Given the description of an element on the screen output the (x, y) to click on. 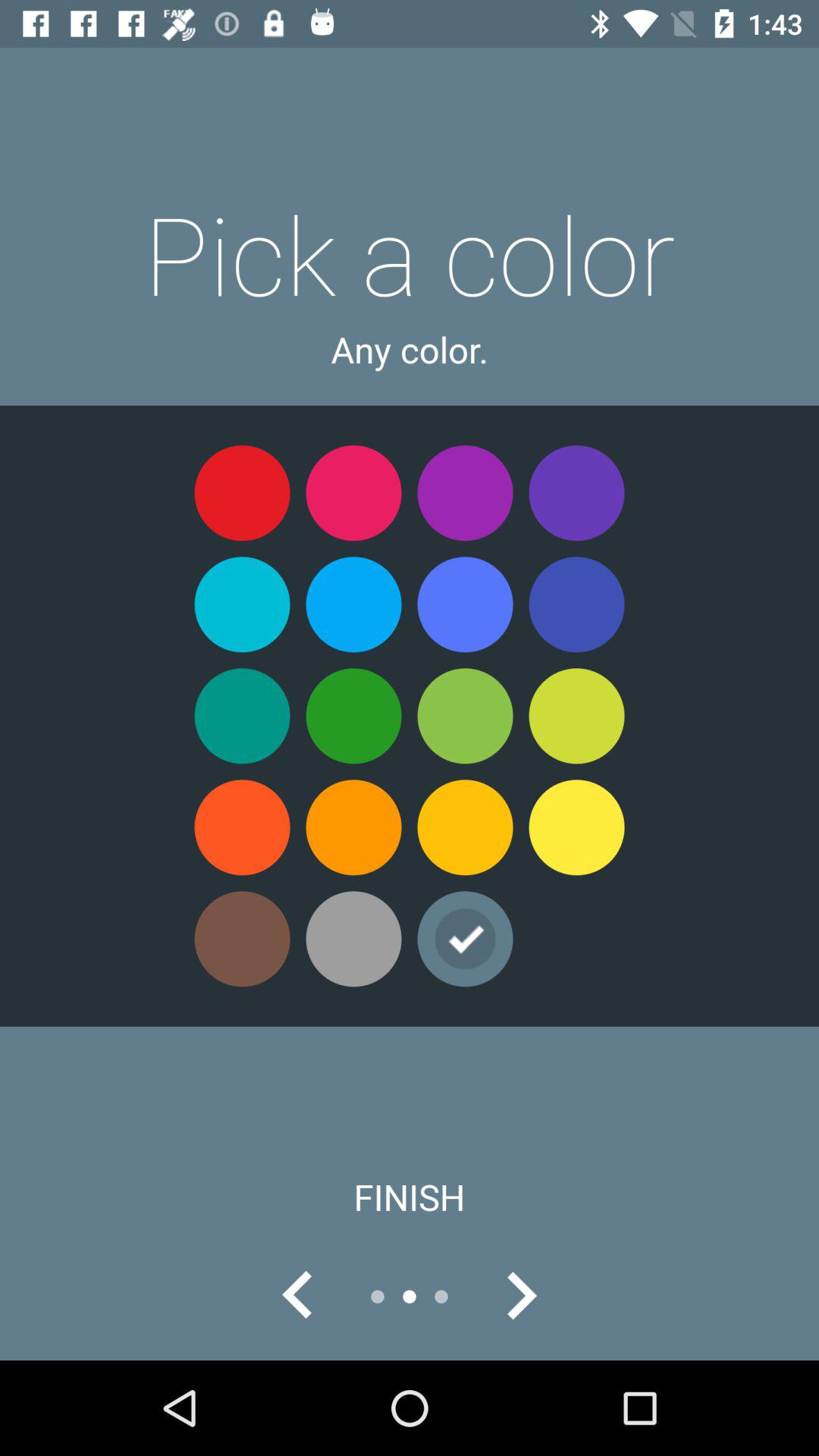
go forward to see next screen (520, 1296)
